Given the description of an element on the screen output the (x, y) to click on. 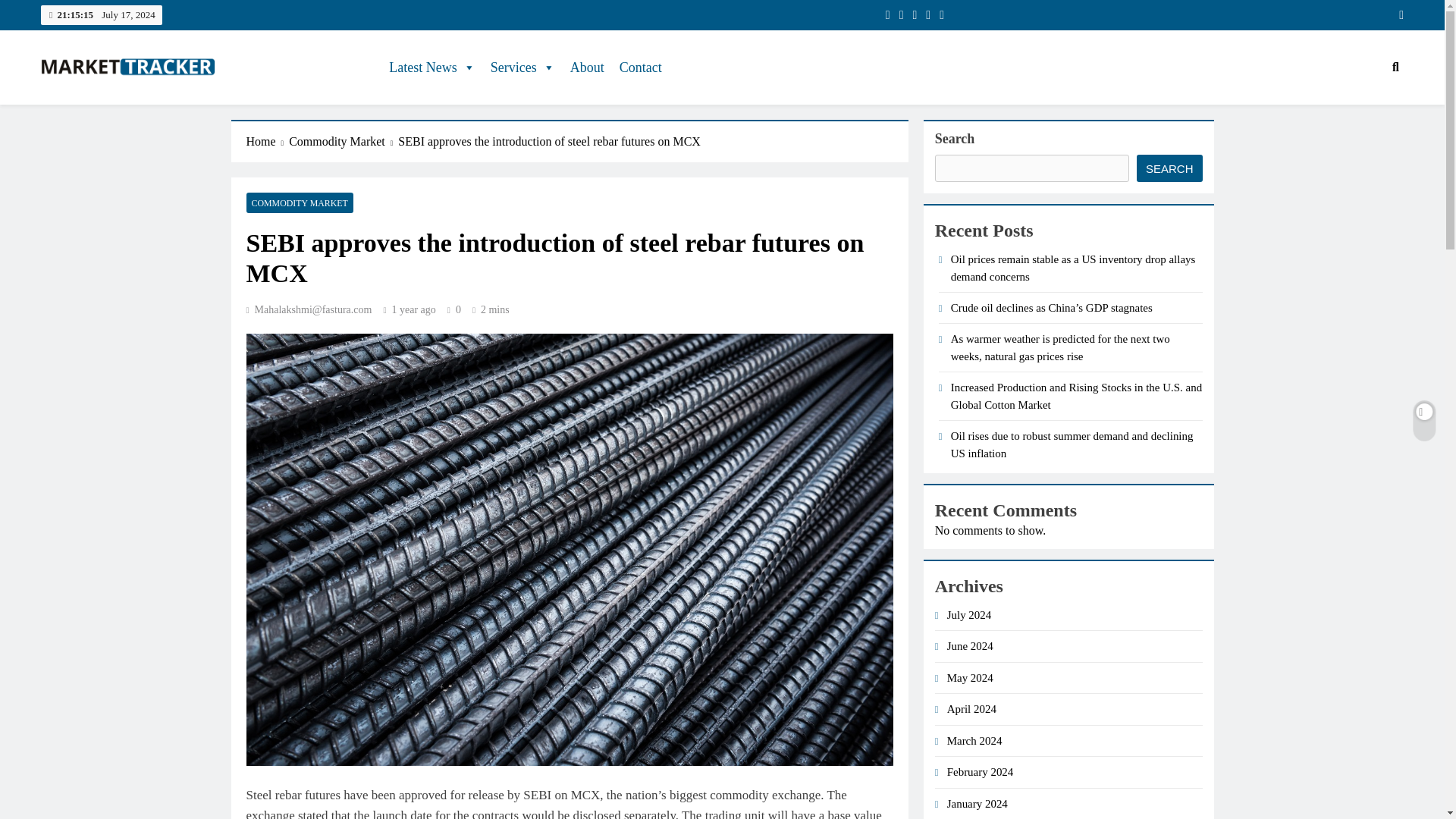
Random News (1395, 14)
Latest News (431, 67)
Market-Tracker (122, 105)
Services (522, 67)
